Given the description of an element on the screen output the (x, y) to click on. 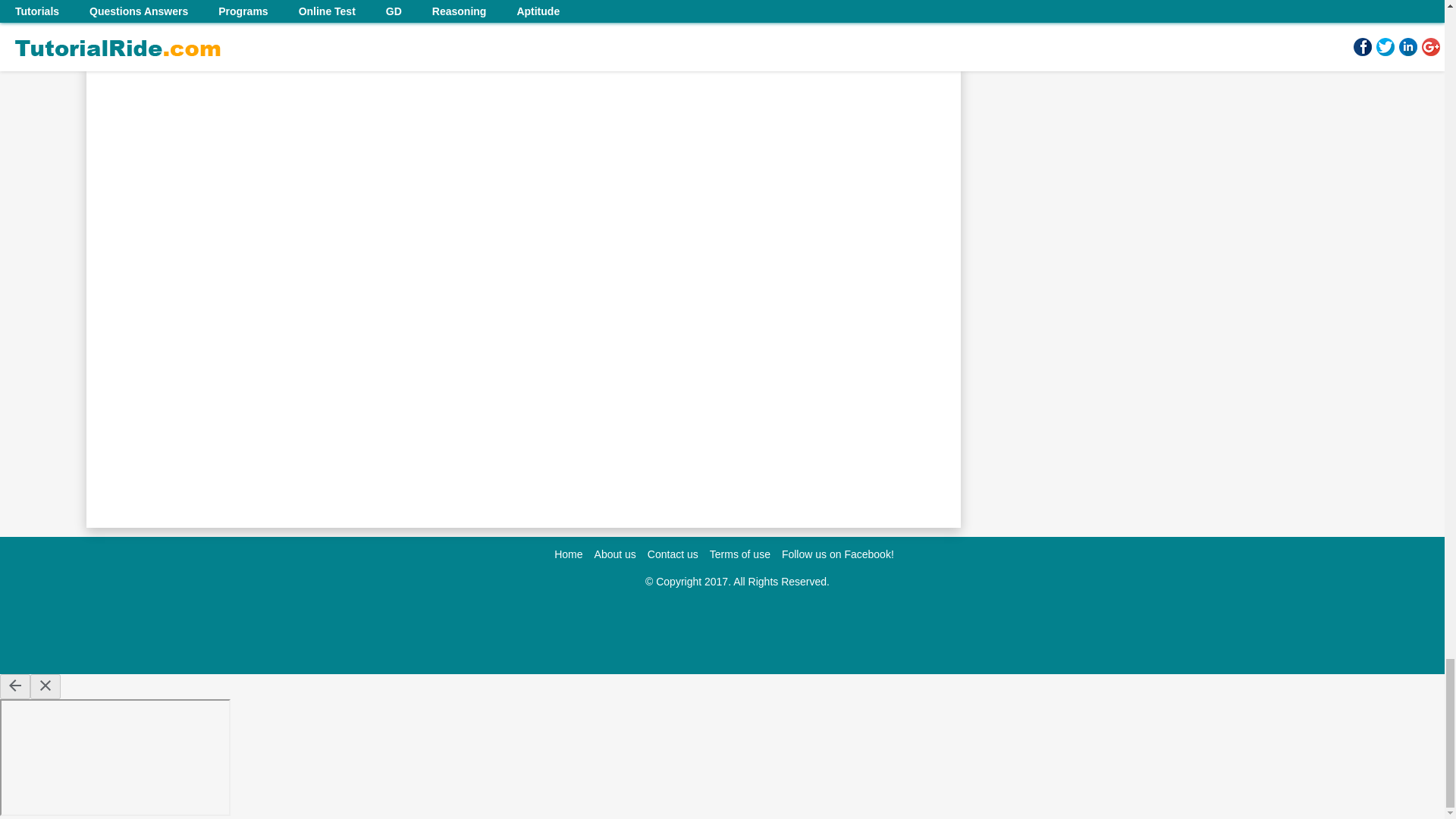
Contact us (672, 553)
About us (615, 553)
Follow us on Facebook! (837, 553)
Home (568, 553)
Terms of use (740, 553)
